Given the description of an element on the screen output the (x, y) to click on. 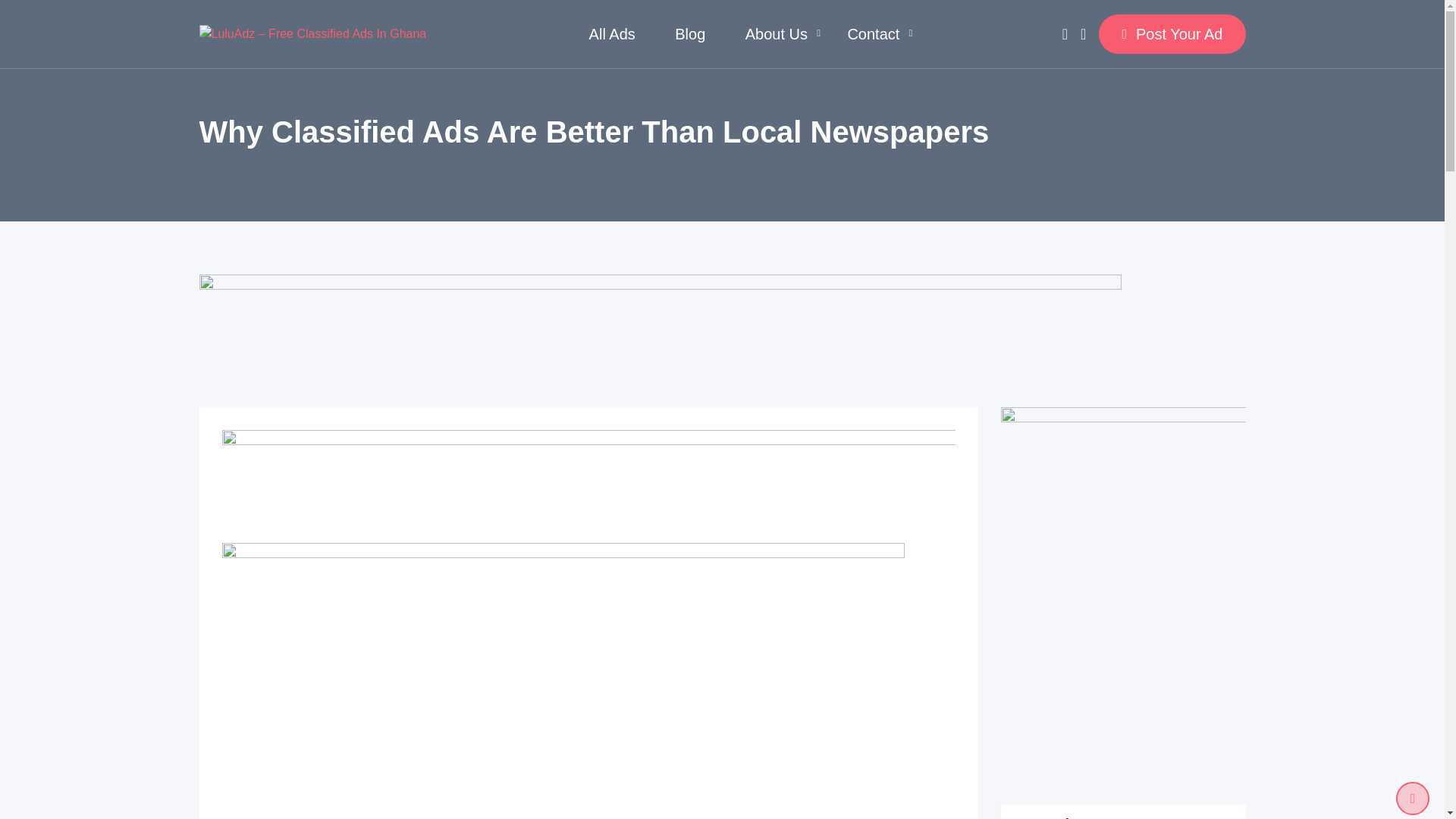
About Us (775, 33)
Chat (1064, 33)
Blog (689, 33)
Post Your Ad (1171, 34)
All Ads (611, 33)
Contact (872, 33)
